Given the description of an element on the screen output the (x, y) to click on. 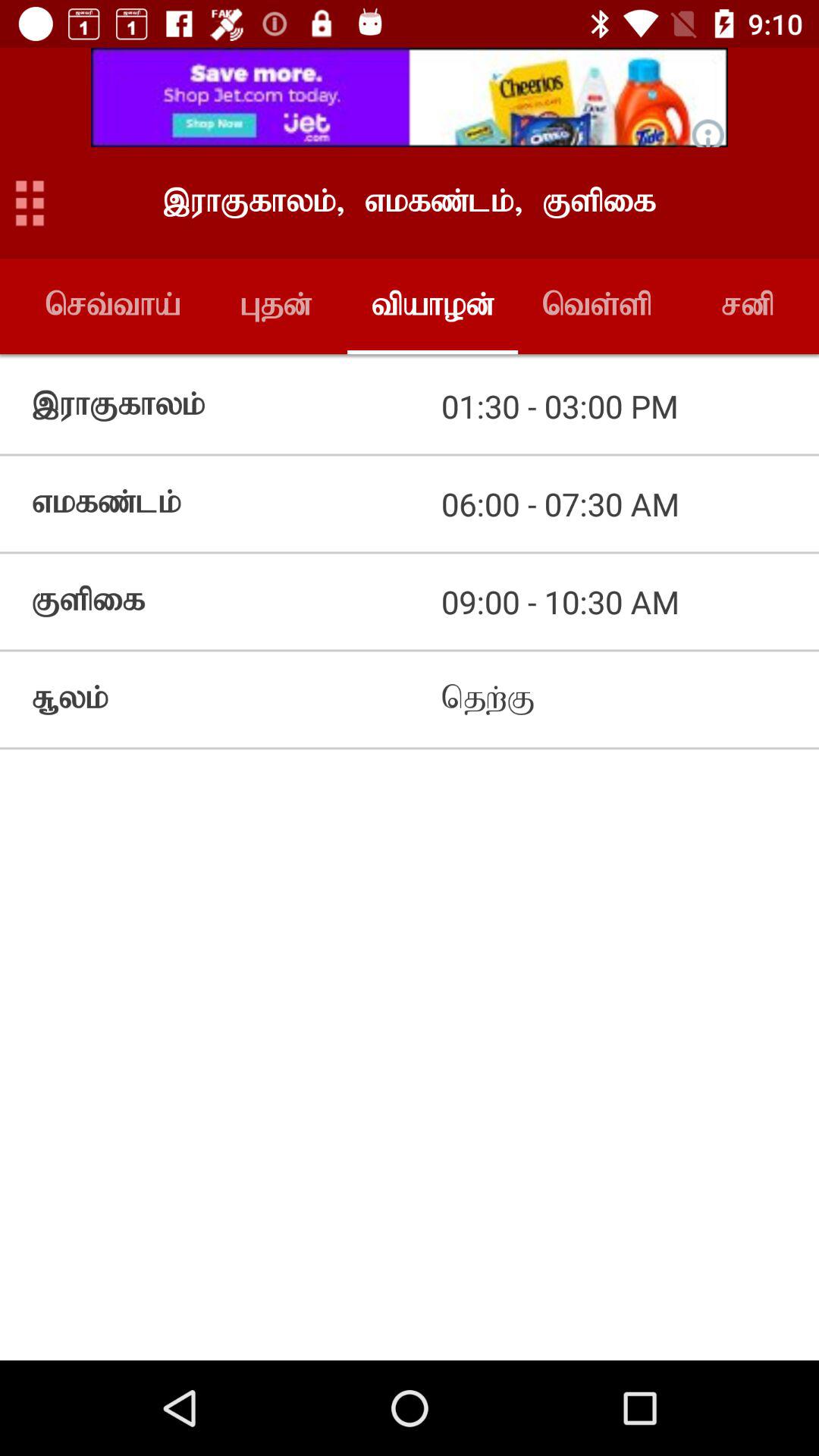
click app options (29, 202)
